Given the description of an element on the screen output the (x, y) to click on. 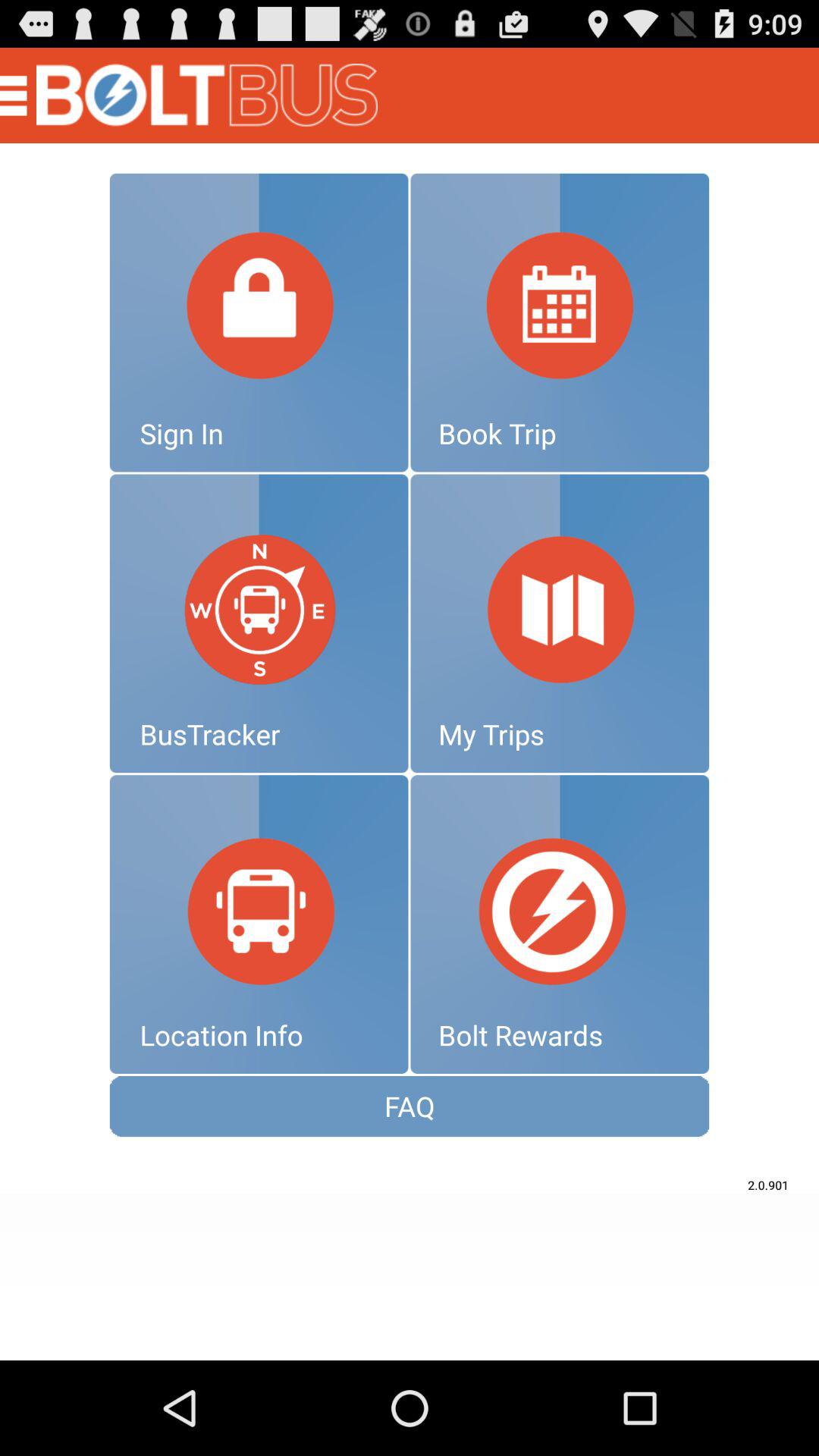
signin option (258, 322)
